Given the description of an element on the screen output the (x, y) to click on. 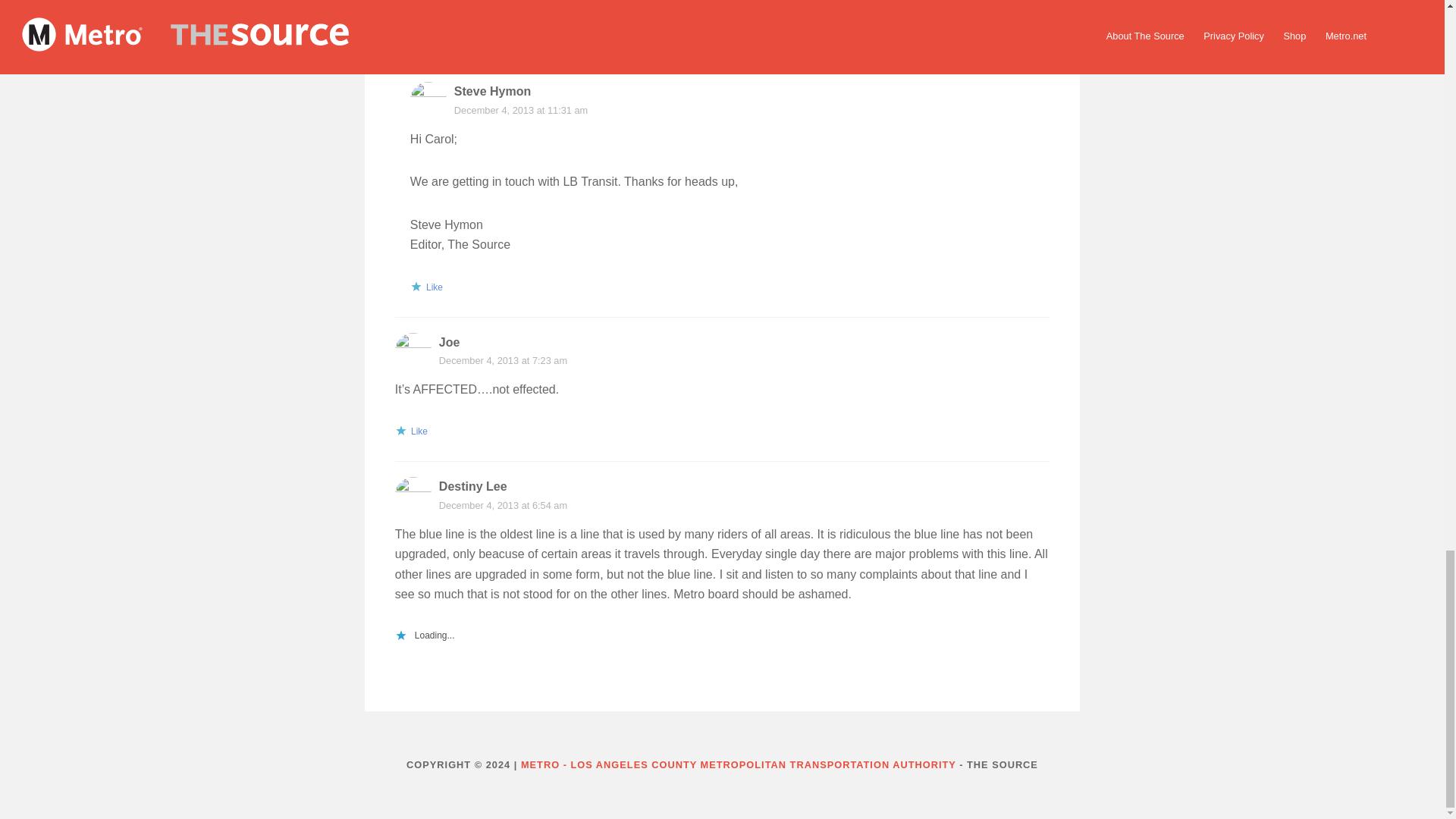
December 4, 2013 at 7:23 am (503, 360)
December 4, 2013 at 11:31 am (521, 110)
